Given the description of an element on the screen output the (x, y) to click on. 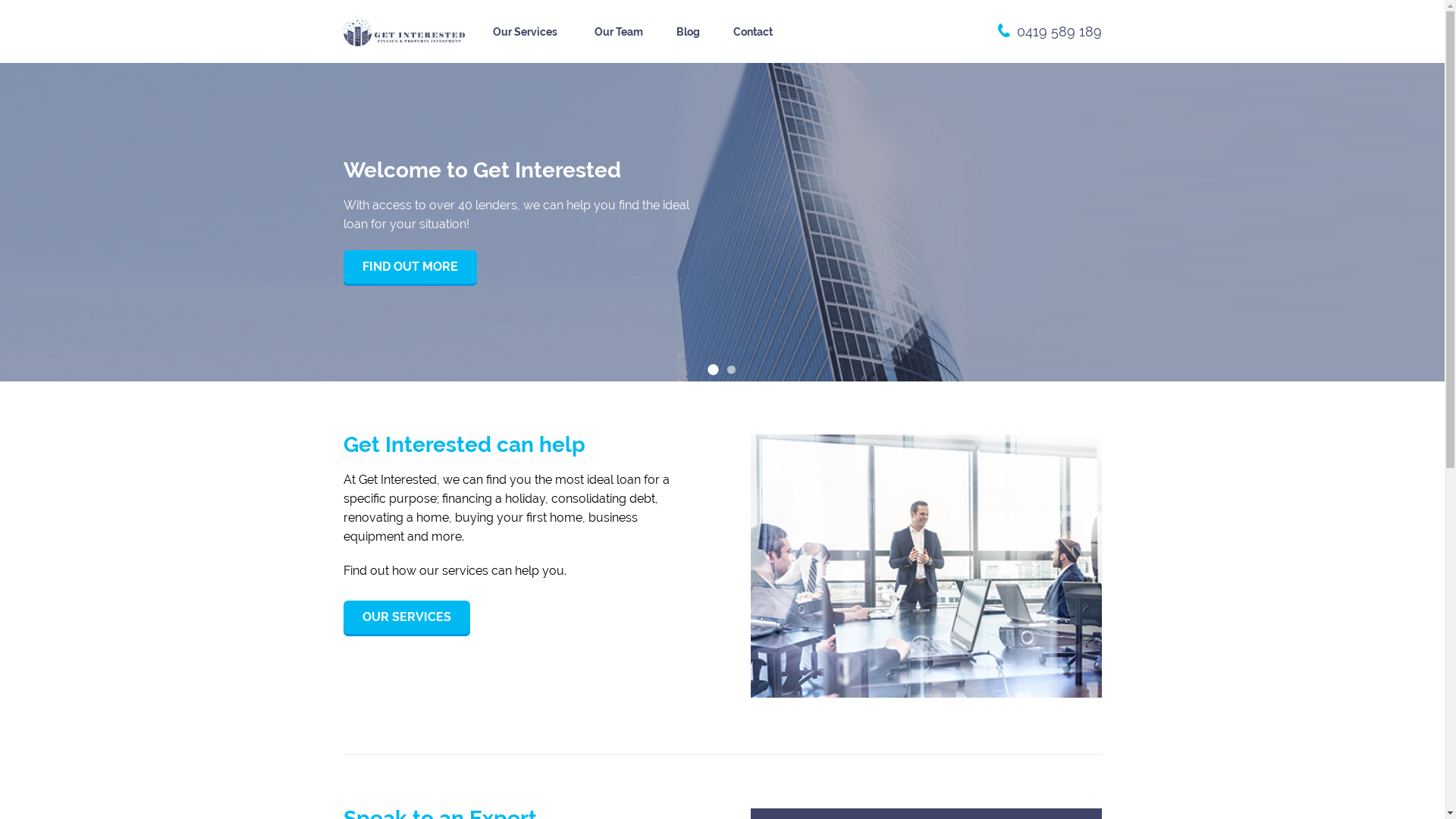
Contact Element type: text (751, 31)
0419 589 189 Element type: text (1058, 31)
Our Team Element type: text (618, 31)
FIND OUT MORE Element type: text (409, 266)
OUR SERVICES Element type: text (405, 616)
Our Services Element type: text (526, 31)
Blog Element type: text (687, 31)
